Given the description of an element on the screen output the (x, y) to click on. 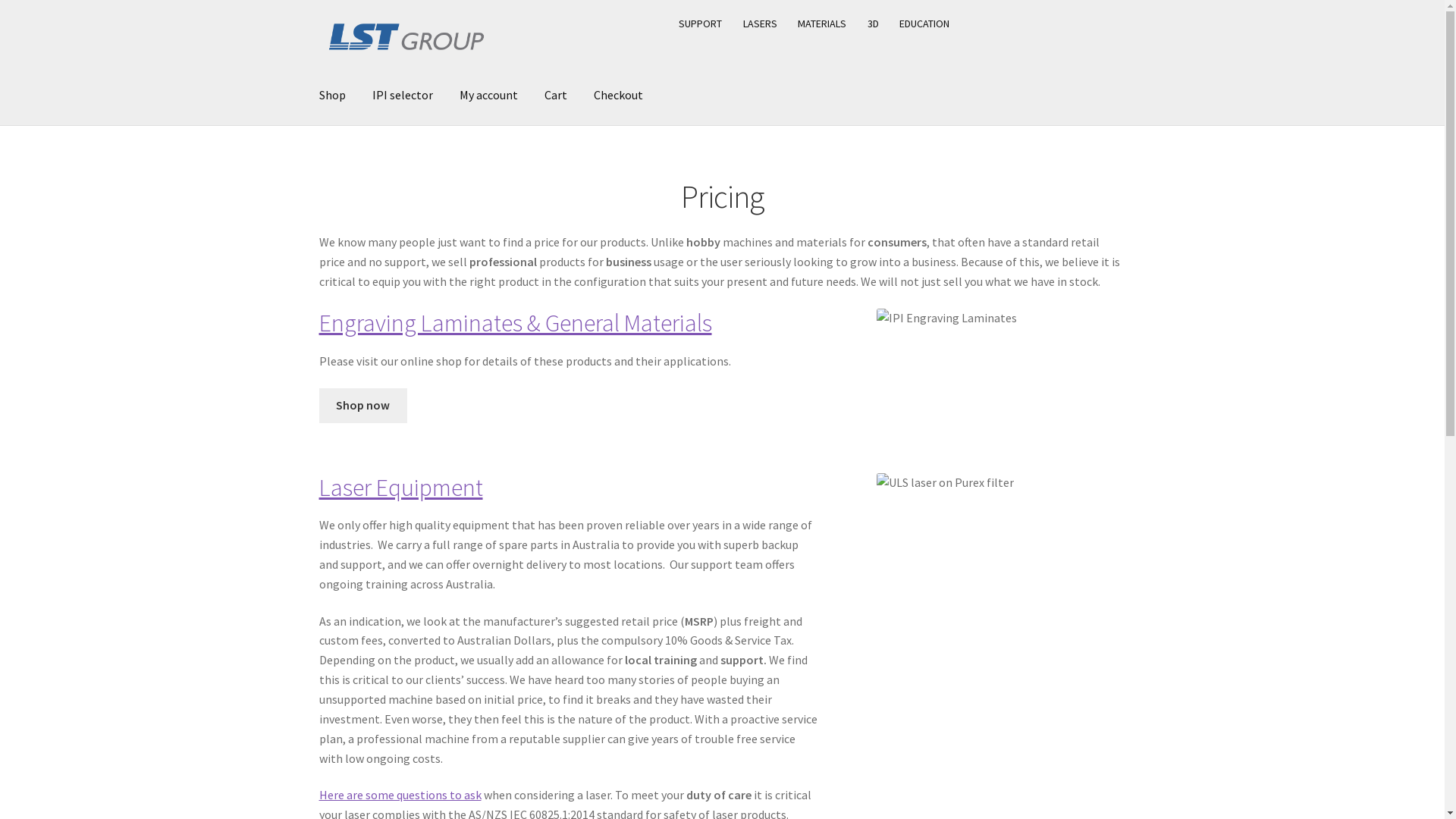
Engraving Laminates & General Materials Element type: text (515, 322)
LASERS Element type: text (760, 23)
Skip to navigation Element type: text (318, 6)
Checkout Element type: text (618, 95)
Here are some questions to ask Element type: text (400, 794)
IPI selector Element type: text (402, 95)
MATERIALS Element type: text (822, 23)
Shop Element type: text (332, 95)
3D Element type: text (873, 23)
My account Element type: text (488, 95)
SUPPORT Element type: text (700, 23)
EDUCATION Element type: text (924, 23)
IPI Engraving Laminates Element type: hover (1001, 318)
ULS laser on Purex filter Element type: hover (1001, 482)
Shop now Element type: text (363, 405)
Cart Element type: text (555, 95)
Laser Equipment Element type: text (401, 487)
